Given the description of an element on the screen output the (x, y) to click on. 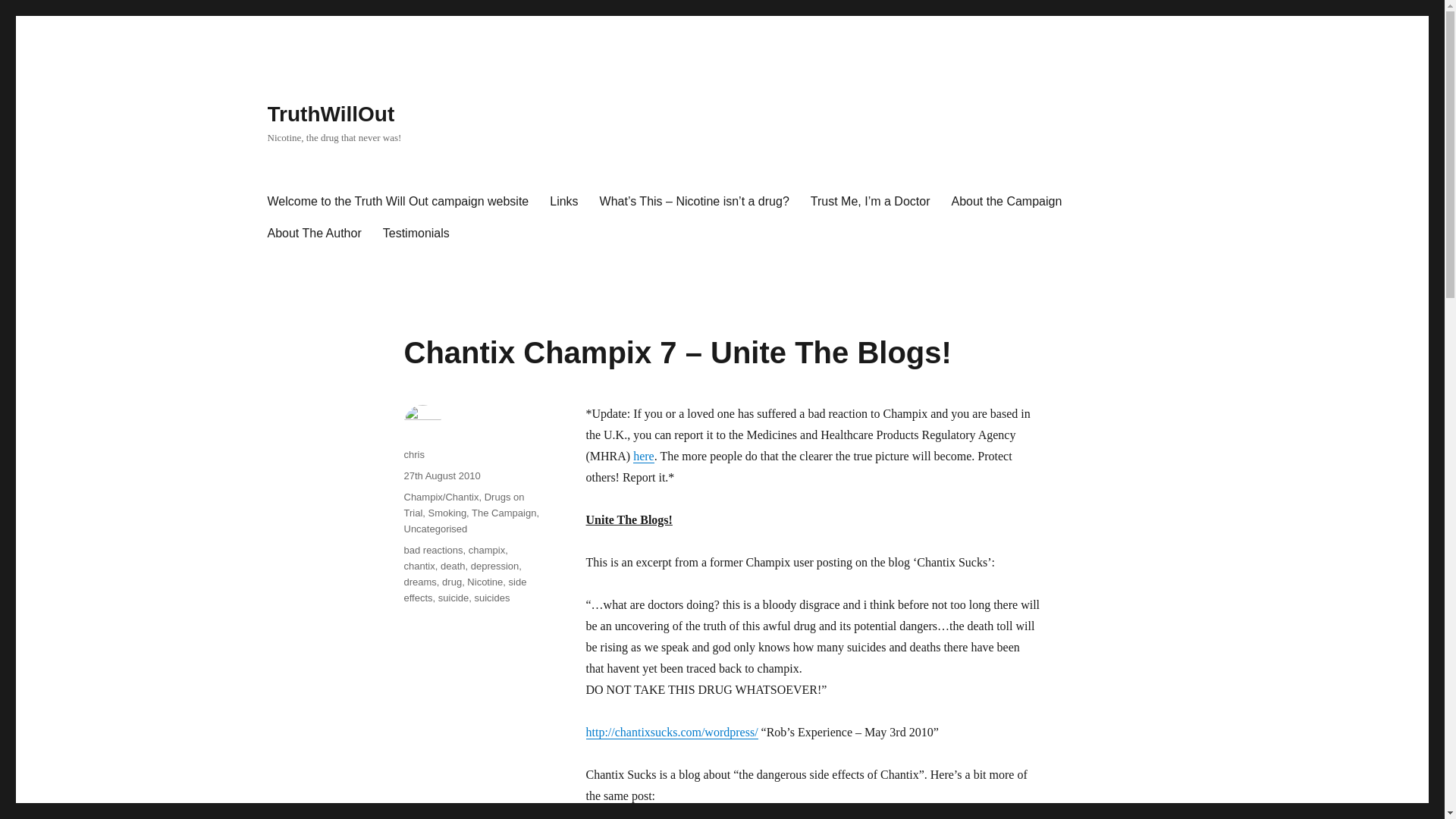
chris (413, 454)
About the Campaign (1005, 201)
Testimonials (416, 233)
Uncategorised (435, 528)
27th August 2010 (441, 475)
The Campaign (503, 512)
drug (451, 582)
Welcome to the Truth Will Out campaign website (397, 201)
death (453, 565)
Smoking (447, 512)
